Given the description of an element on the screen output the (x, y) to click on. 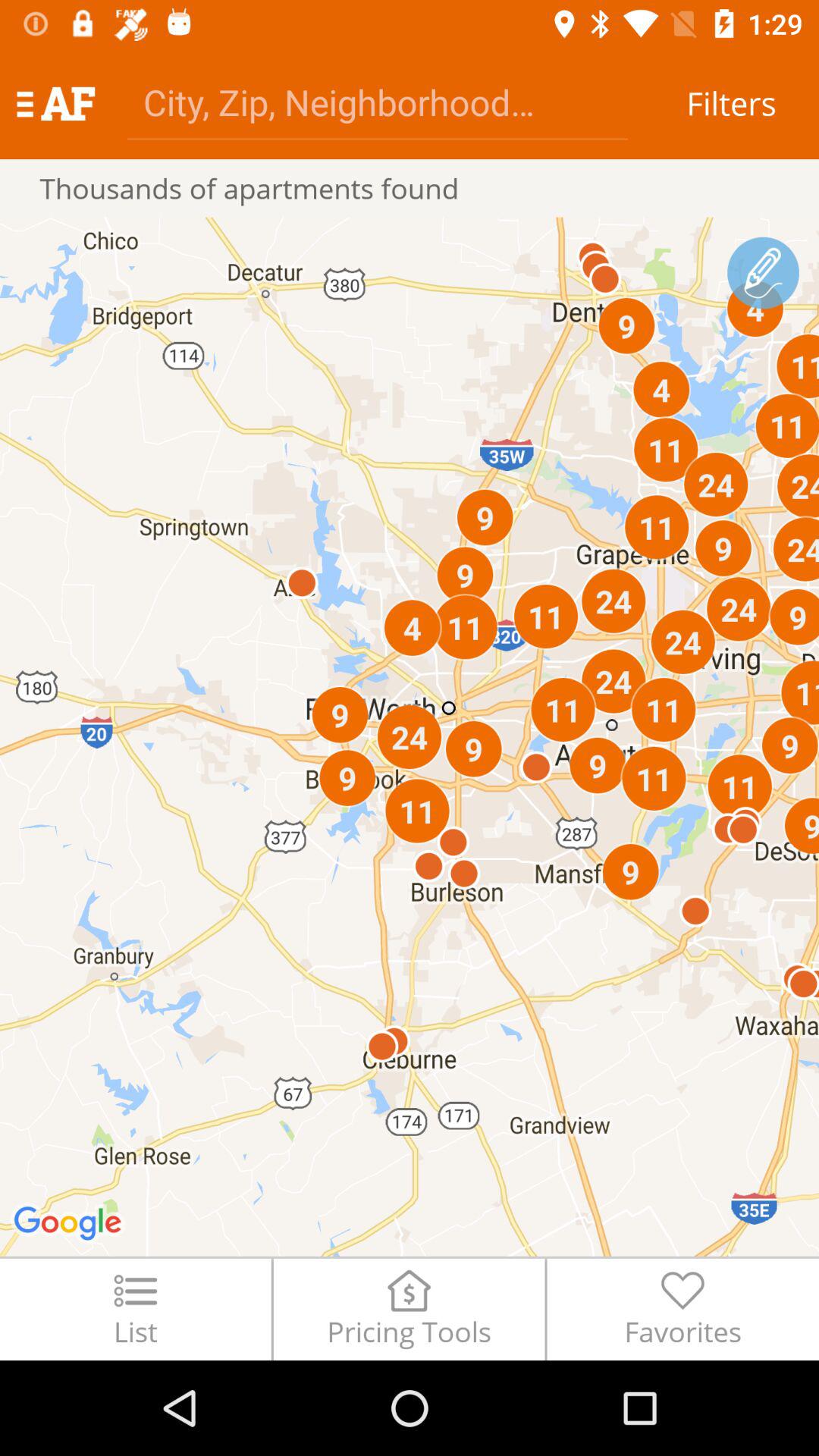
click the item next to the pricing tools item (683, 1309)
